Given the description of an element on the screen output the (x, y) to click on. 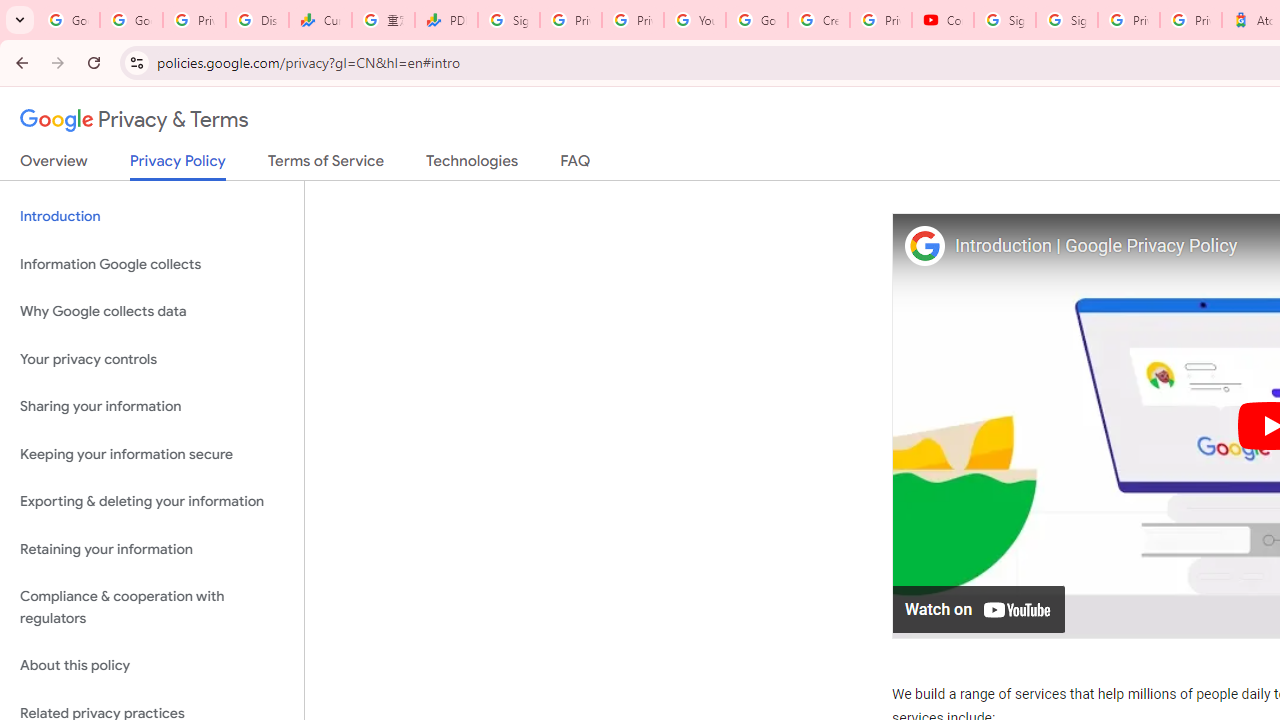
Google Workspace Admin Community (68, 20)
Privacy Policy (177, 166)
Why Google collects data (152, 312)
About this policy (152, 666)
FAQ (575, 165)
Exporting & deleting your information (152, 502)
Information Google collects (152, 263)
Sharing your information (152, 407)
Content Creator Programs & Opportunities - YouTube Creators (942, 20)
